Given the description of an element on the screen output the (x, y) to click on. 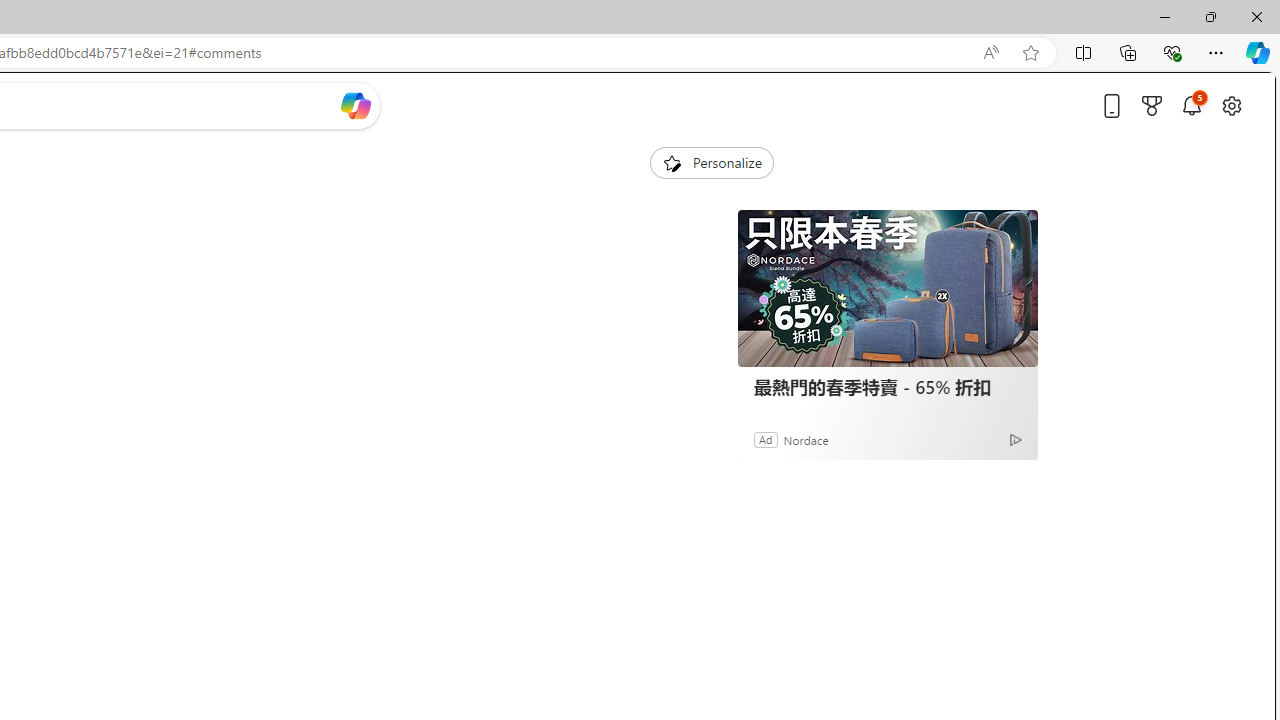
Personalize (711, 162)
